Given the description of an element on the screen output the (x, y) to click on. 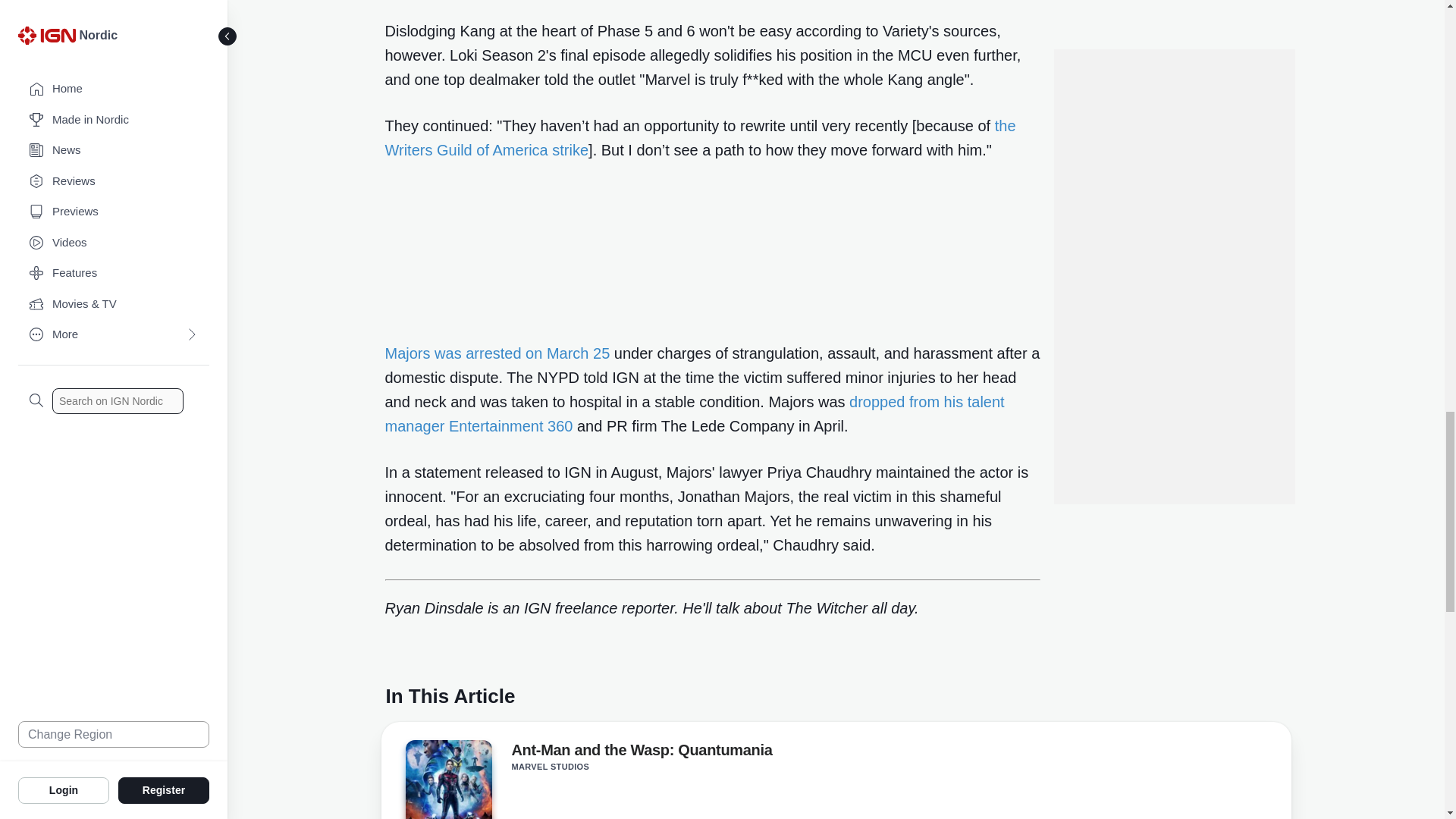
Ant-Man and the Wasp: Quantumania (448, 781)
Ant-Man and the Wasp: Quantumania (448, 779)
Ant-Man and the Wasp: Quantumania (641, 753)
